Given the description of an element on the screen output the (x, y) to click on. 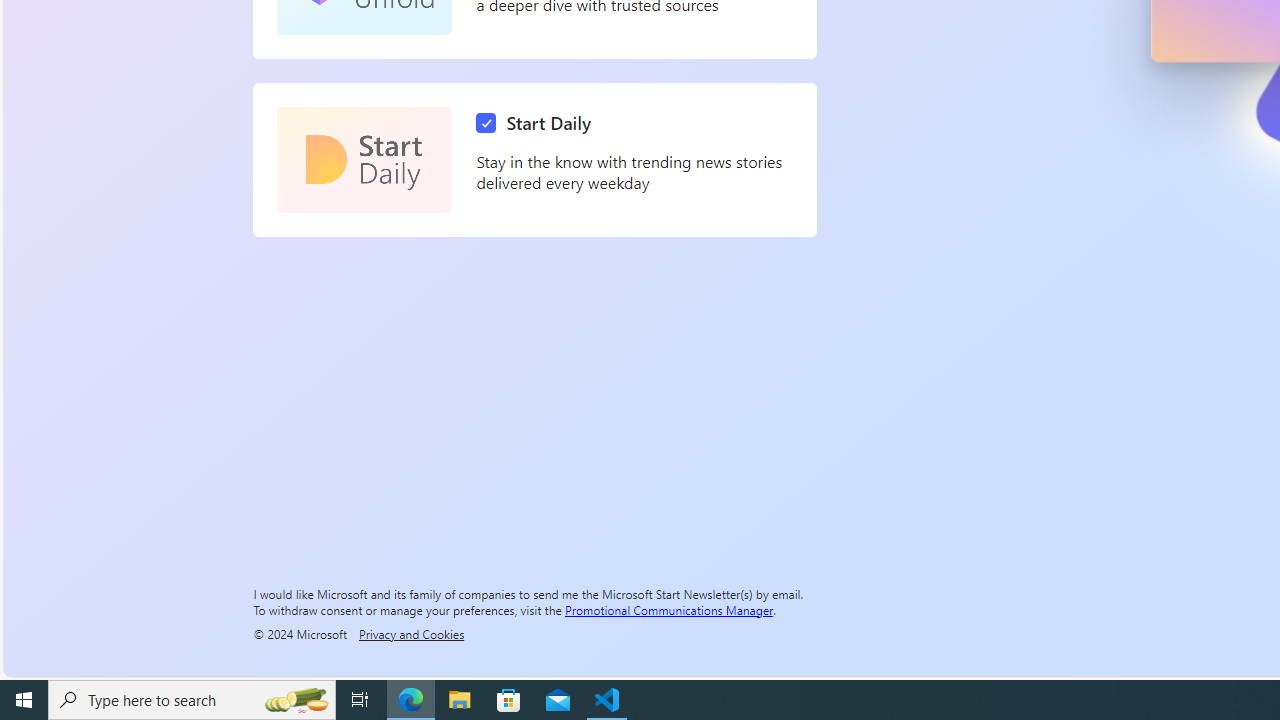
Start Daily (538, 123)
Start Daily (364, 160)
Privacy and Cookies (411, 633)
Promotional Communications Manager (669, 609)
